Given the description of an element on the screen output the (x, y) to click on. 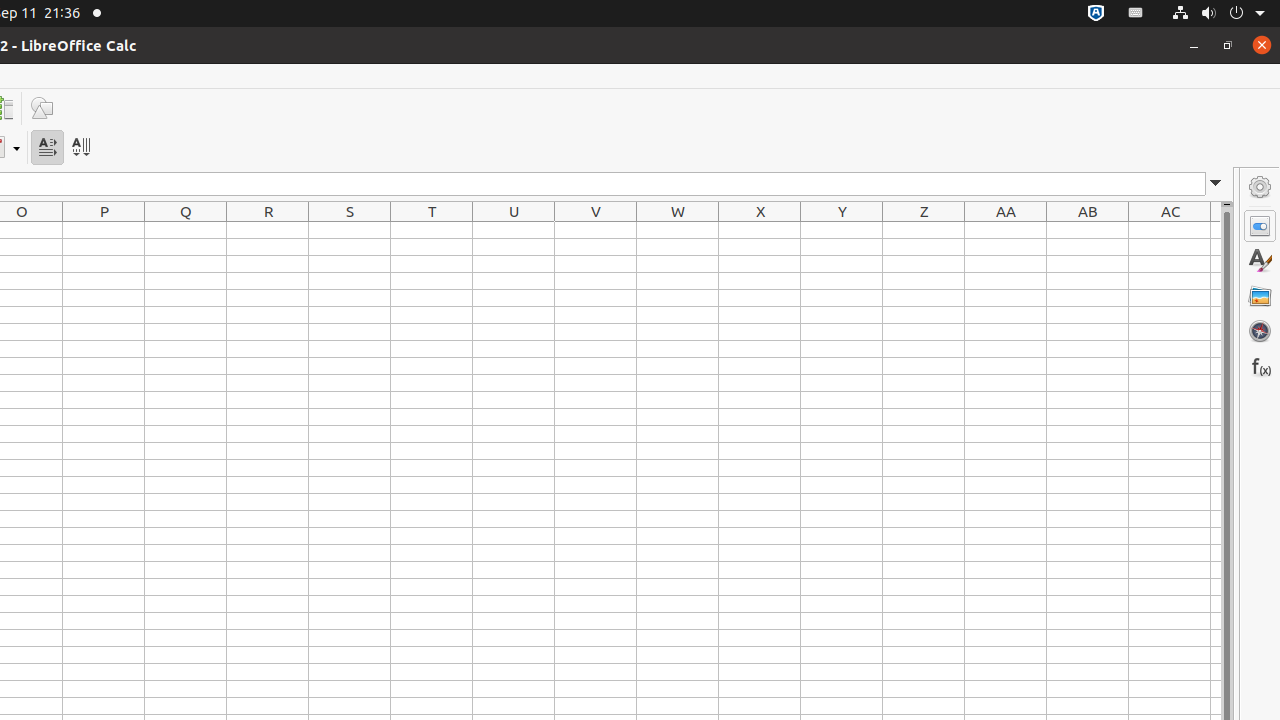
Z1 Element type: table-cell (924, 230)
P1 Element type: table-cell (104, 230)
V1 Element type: table-cell (596, 230)
AC1 Element type: table-cell (1170, 230)
Gallery Element type: radio-button (1260, 296)
